Given the description of an element on the screen output the (x, y) to click on. 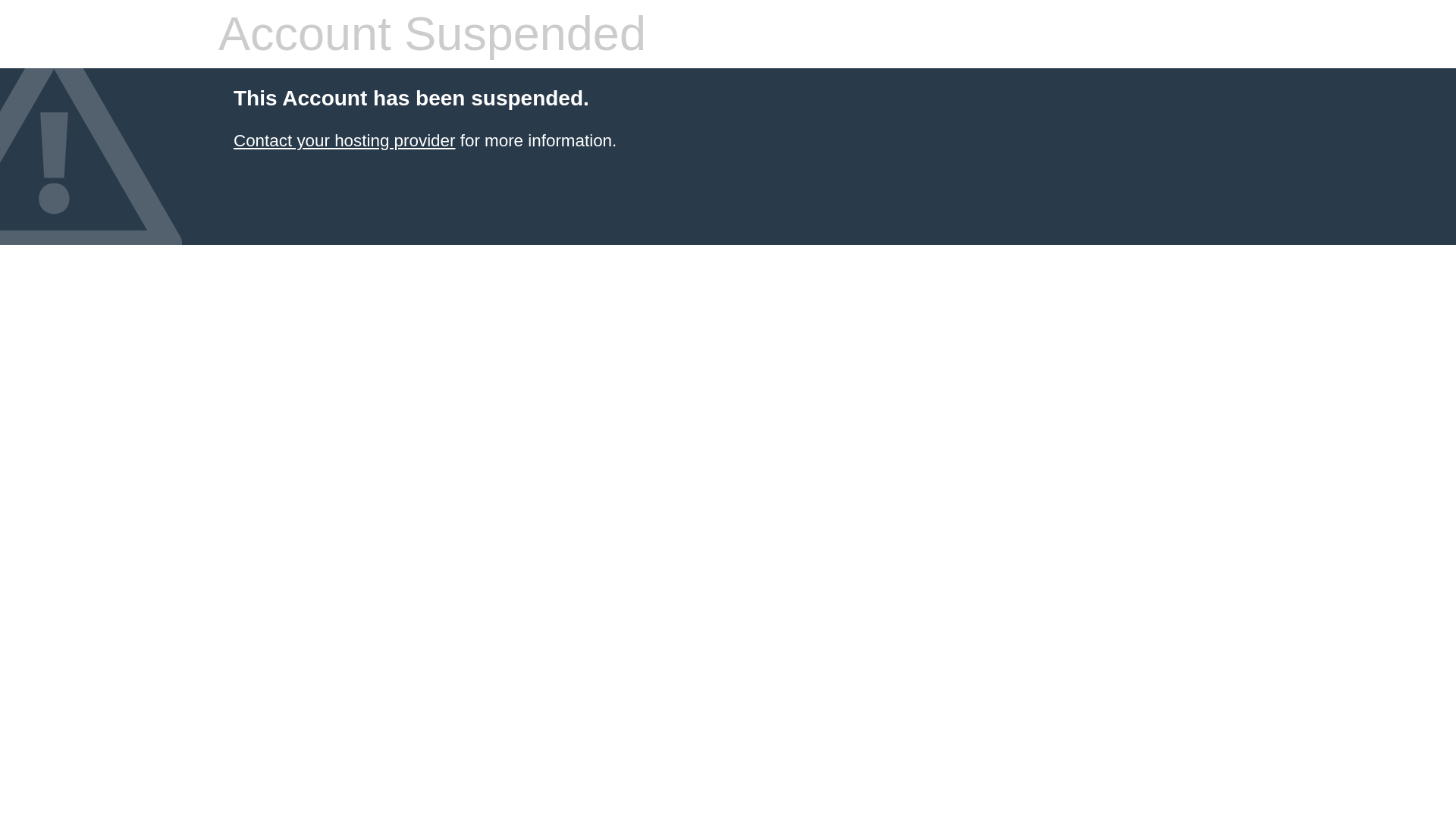
Contact your hosting provider (343, 140)
